Given the description of an element on the screen output the (x, y) to click on. 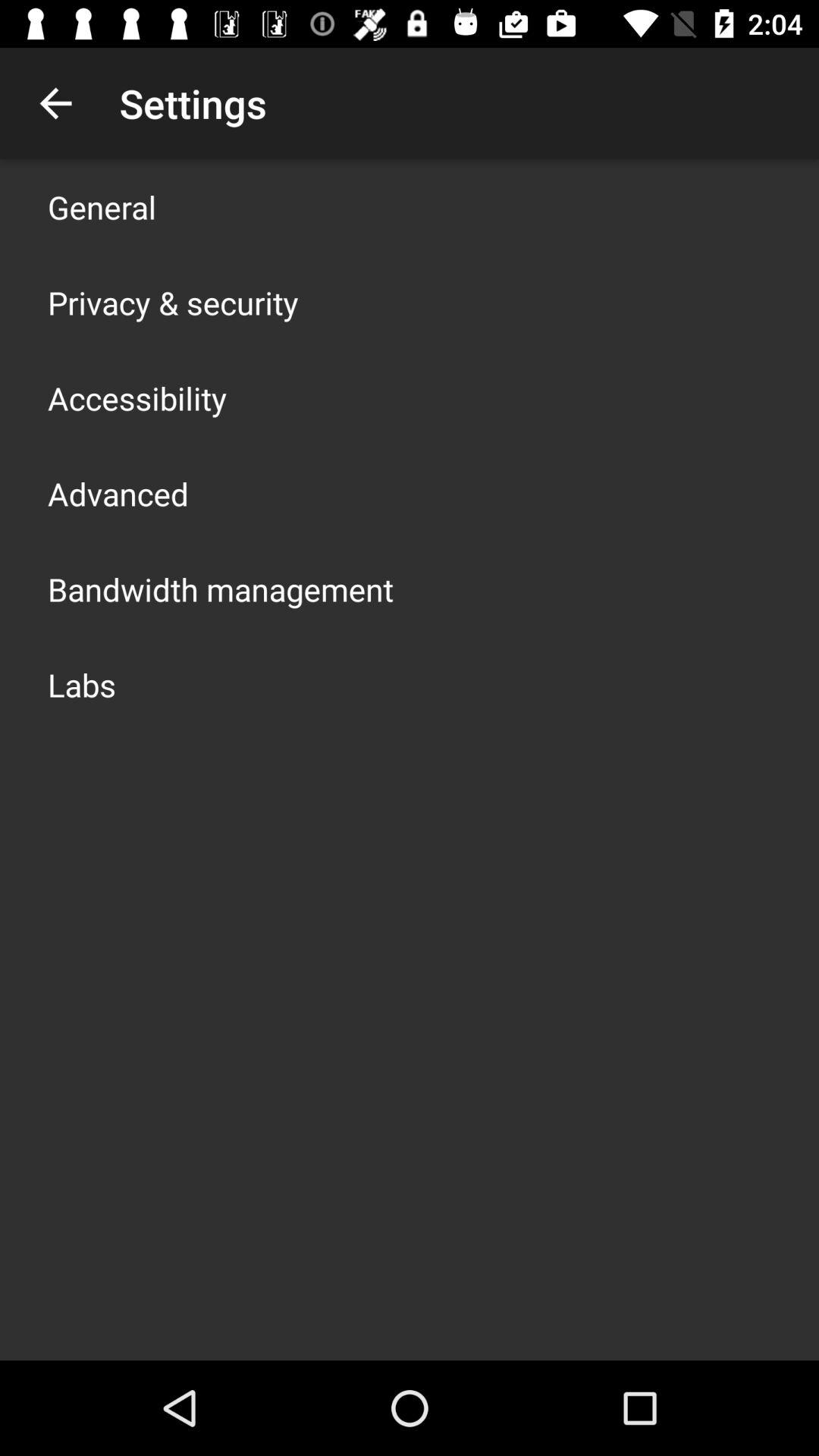
tap accessibility item (136, 397)
